Given the description of an element on the screen output the (x, y) to click on. 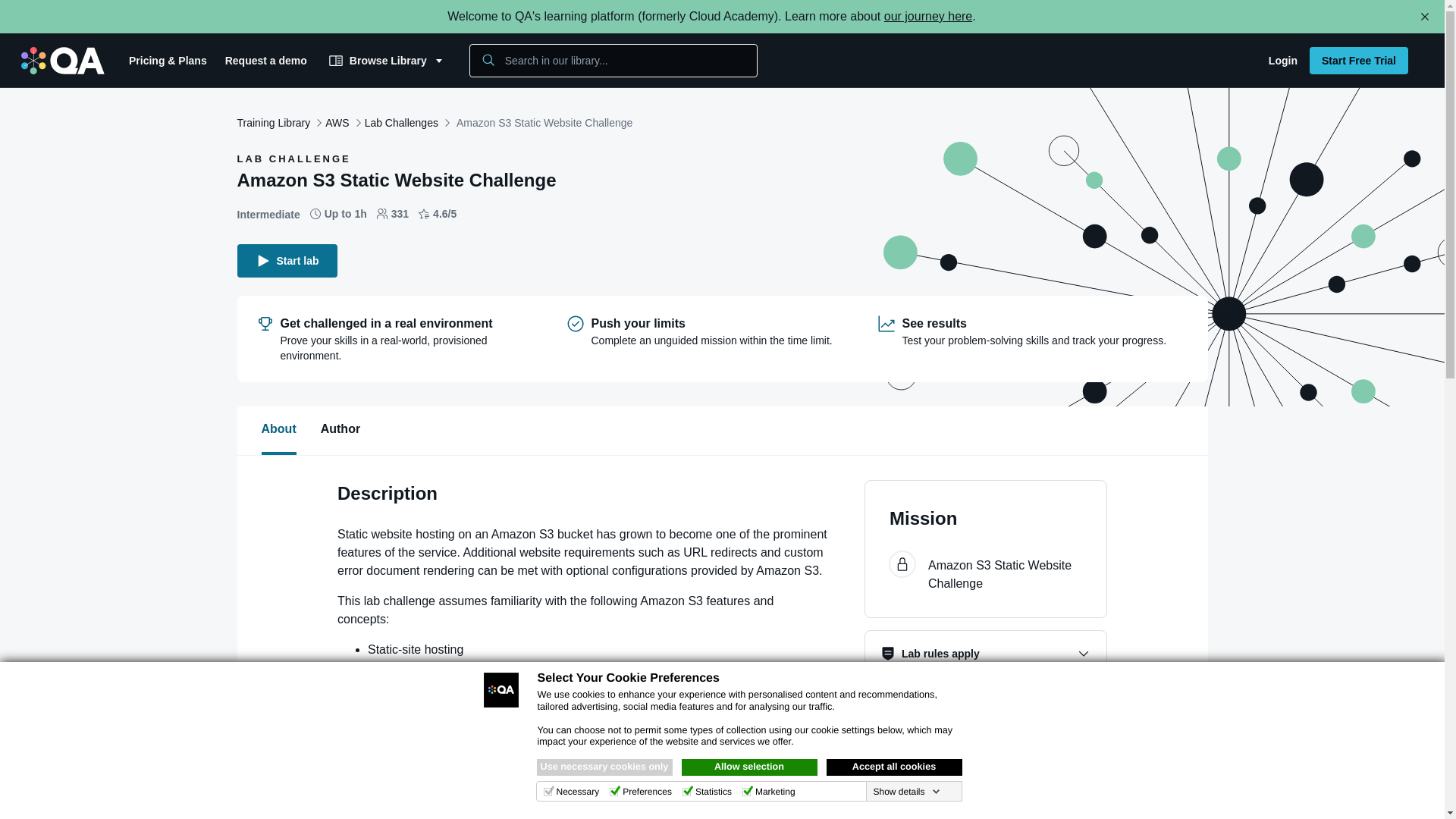
Accept all cookies (894, 767)
Allow selection (748, 767)
Use necessary cookies only (604, 767)
Show details (905, 791)
